Given the description of an element on the screen output the (x, y) to click on. 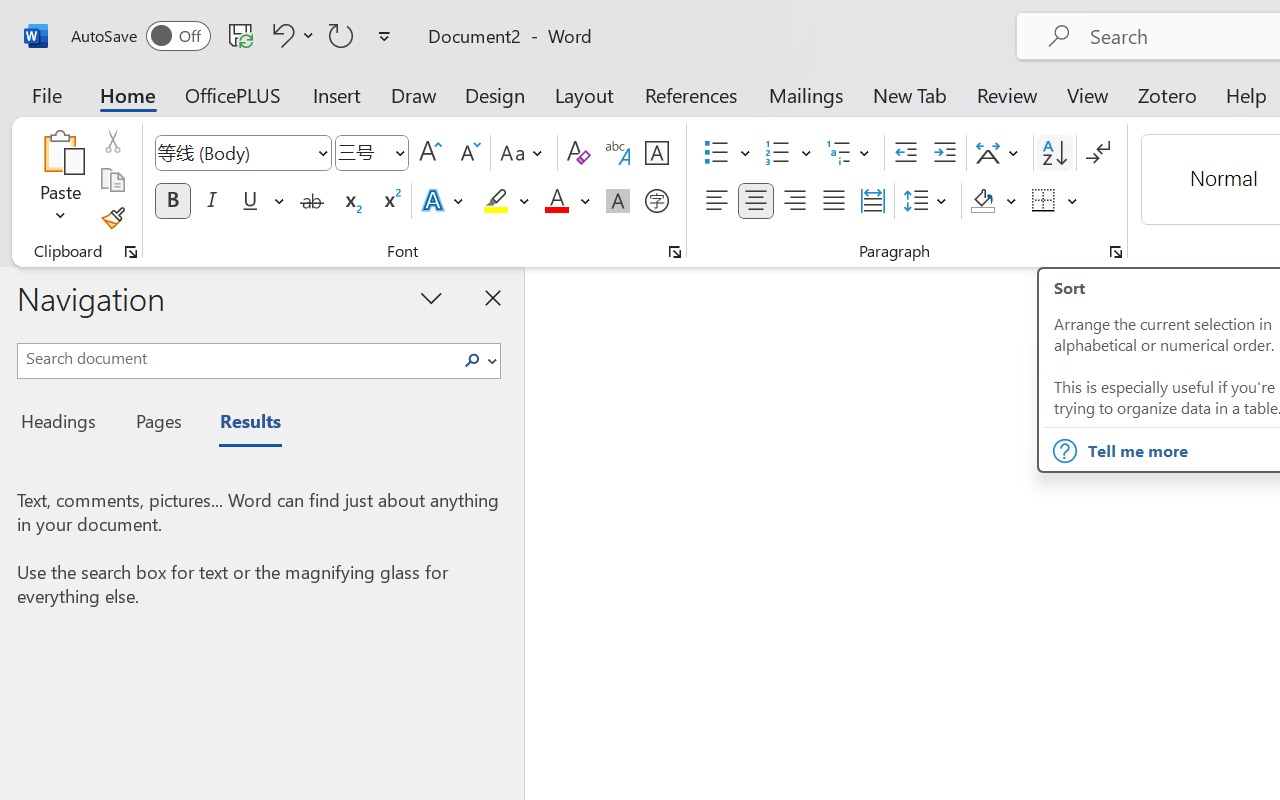
View (1087, 94)
Clear Formatting (578, 153)
Copy (112, 179)
Character Shading (618, 201)
Subscript (350, 201)
Undo Style (290, 35)
AutoSave (140, 35)
Save (241, 35)
Change Case (524, 153)
Undo Style (280, 35)
Numbering (788, 153)
New Tab (909, 94)
Line and Paragraph Spacing (927, 201)
